Given the description of an element on the screen output the (x, y) to click on. 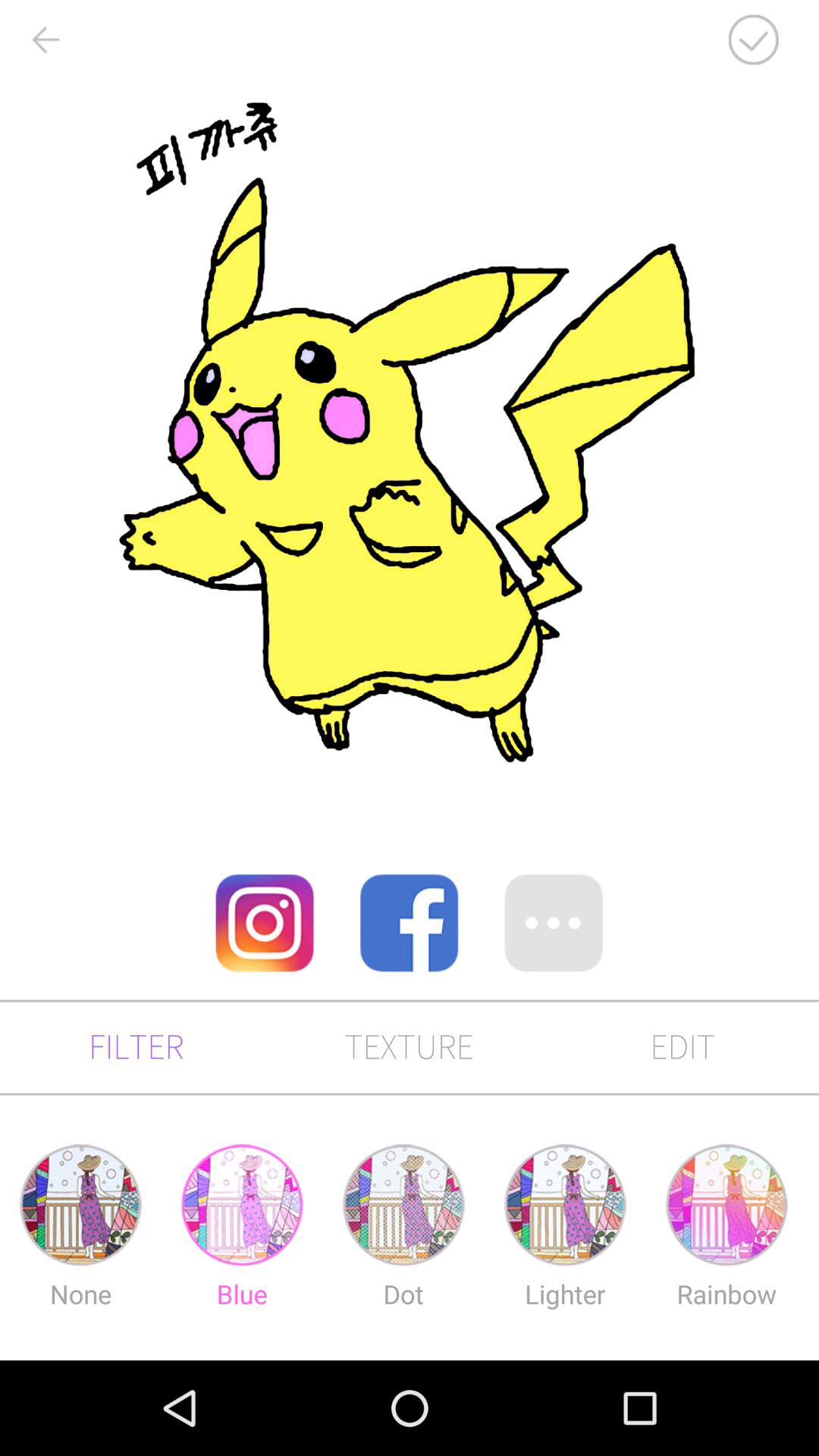
save image (753, 39)
